Given the description of an element on the screen output the (x, y) to click on. 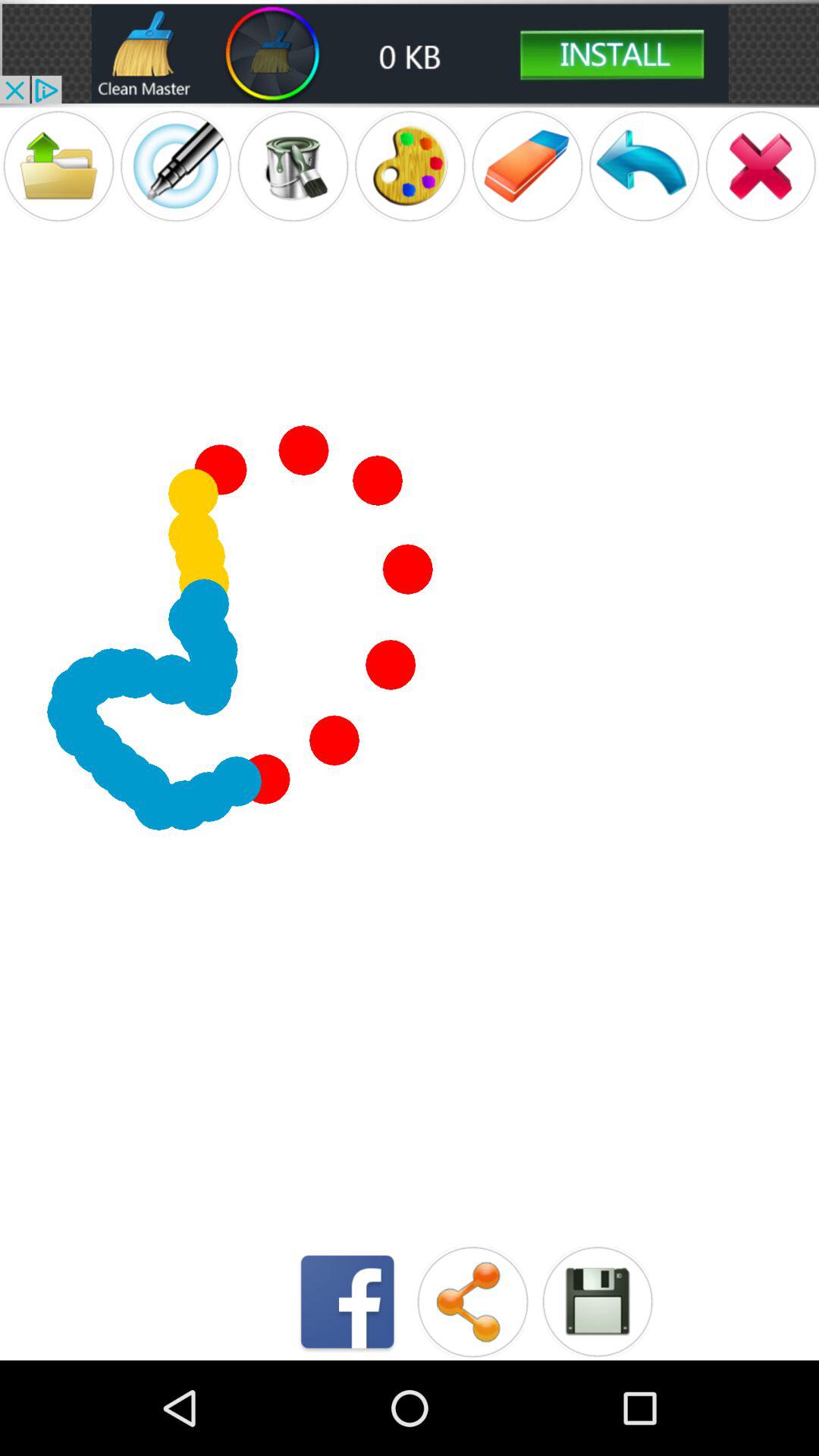
check share option (472, 1301)
